Given the description of an element on the screen output the (x, y) to click on. 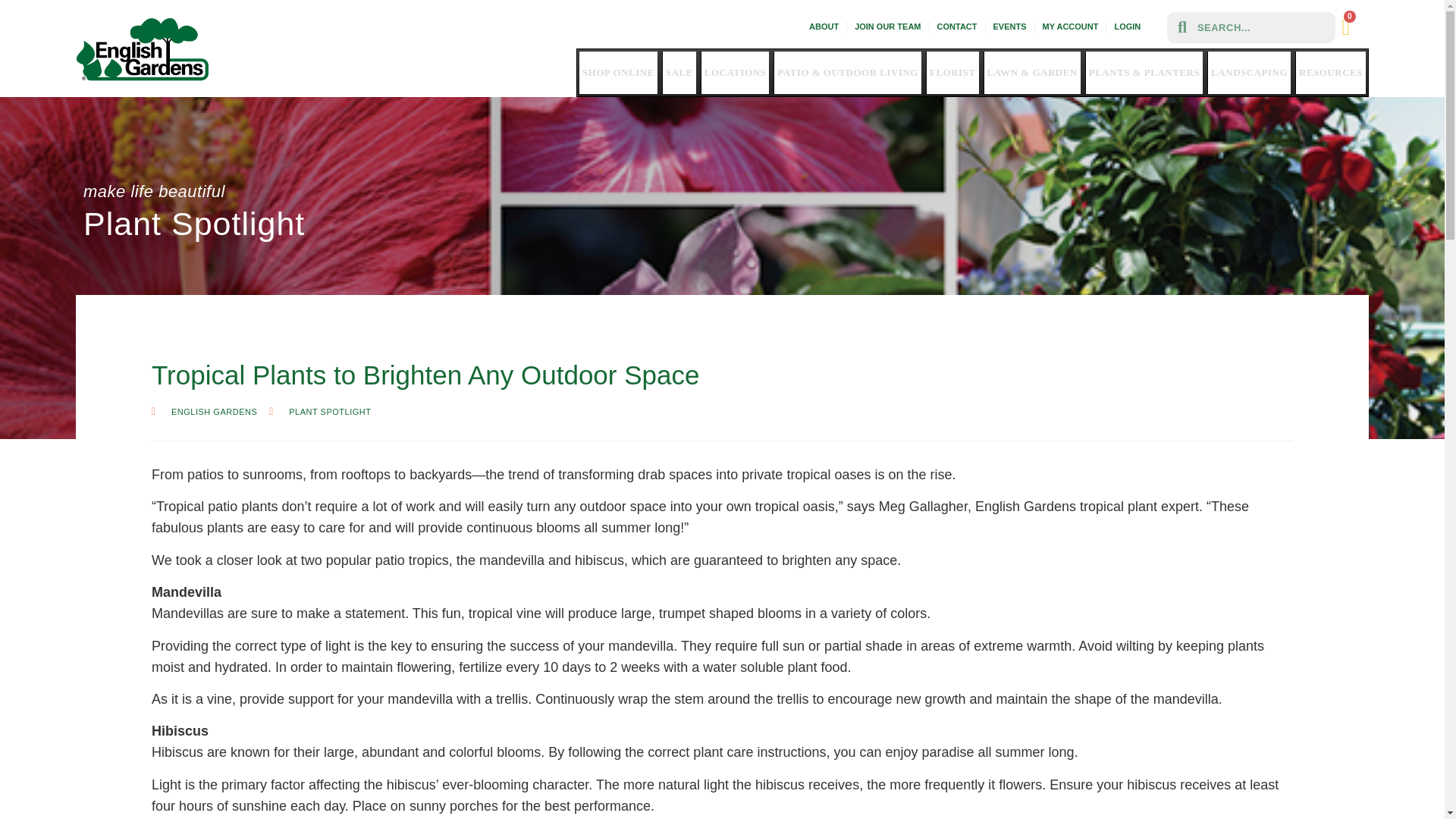
ABOUT (823, 26)
SHOP ONLINE (618, 72)
EVENTS (1009, 26)
MY ACCOUNT (1070, 26)
JOIN OUR TEAM (887, 26)
LOCATIONS (735, 72)
LOGIN (1127, 26)
0 (1345, 26)
CONTACT (957, 26)
